Given the description of an element on the screen output the (x, y) to click on. 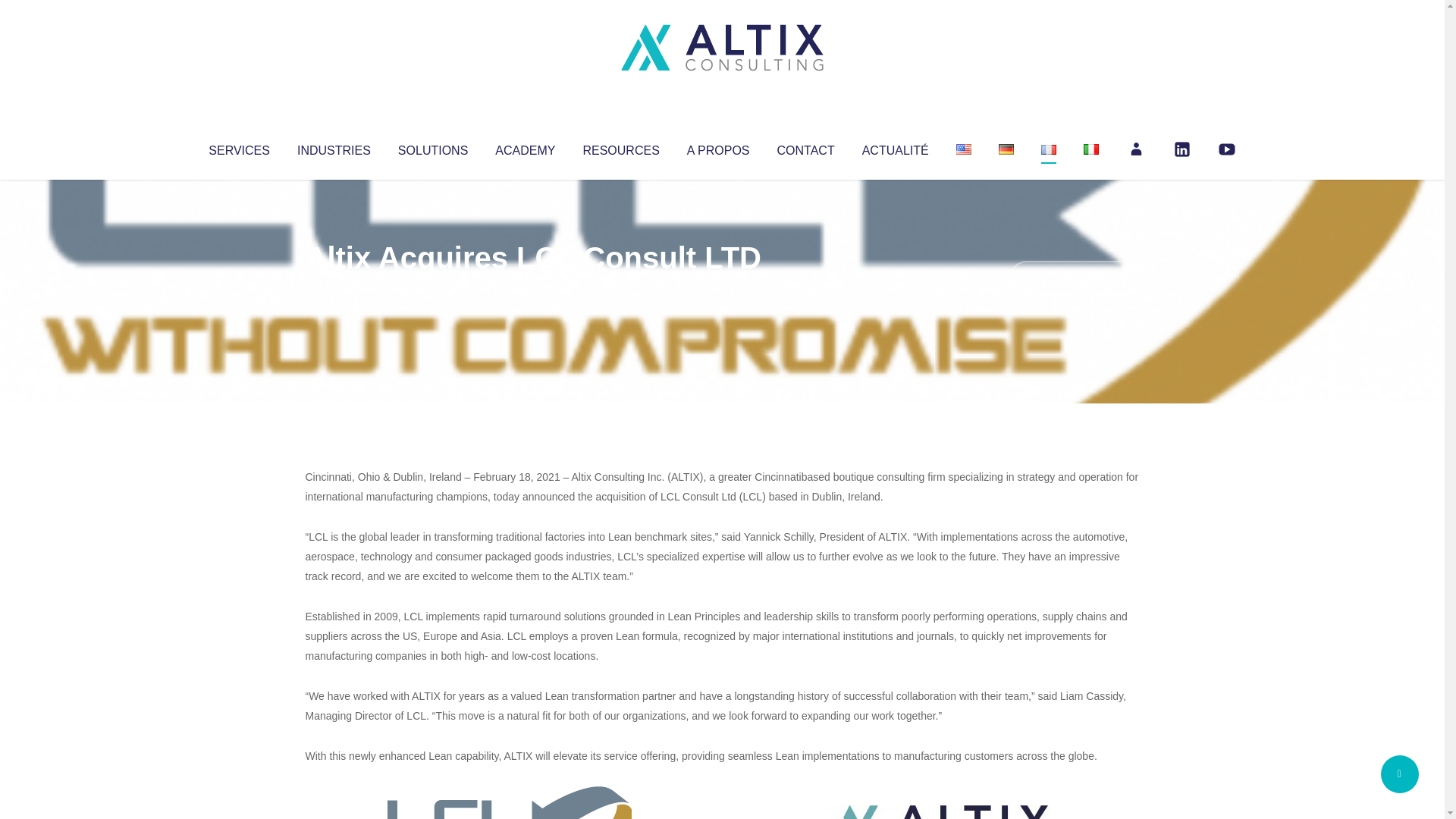
ACADEMY (524, 146)
A PROPOS (718, 146)
SOLUTIONS (432, 146)
Altix (333, 287)
RESOURCES (620, 146)
Uncategorized (530, 287)
INDUSTRIES (334, 146)
SERVICES (238, 146)
No Comments (1073, 278)
Articles par Altix (333, 287)
